Given the description of an element on the screen output the (x, y) to click on. 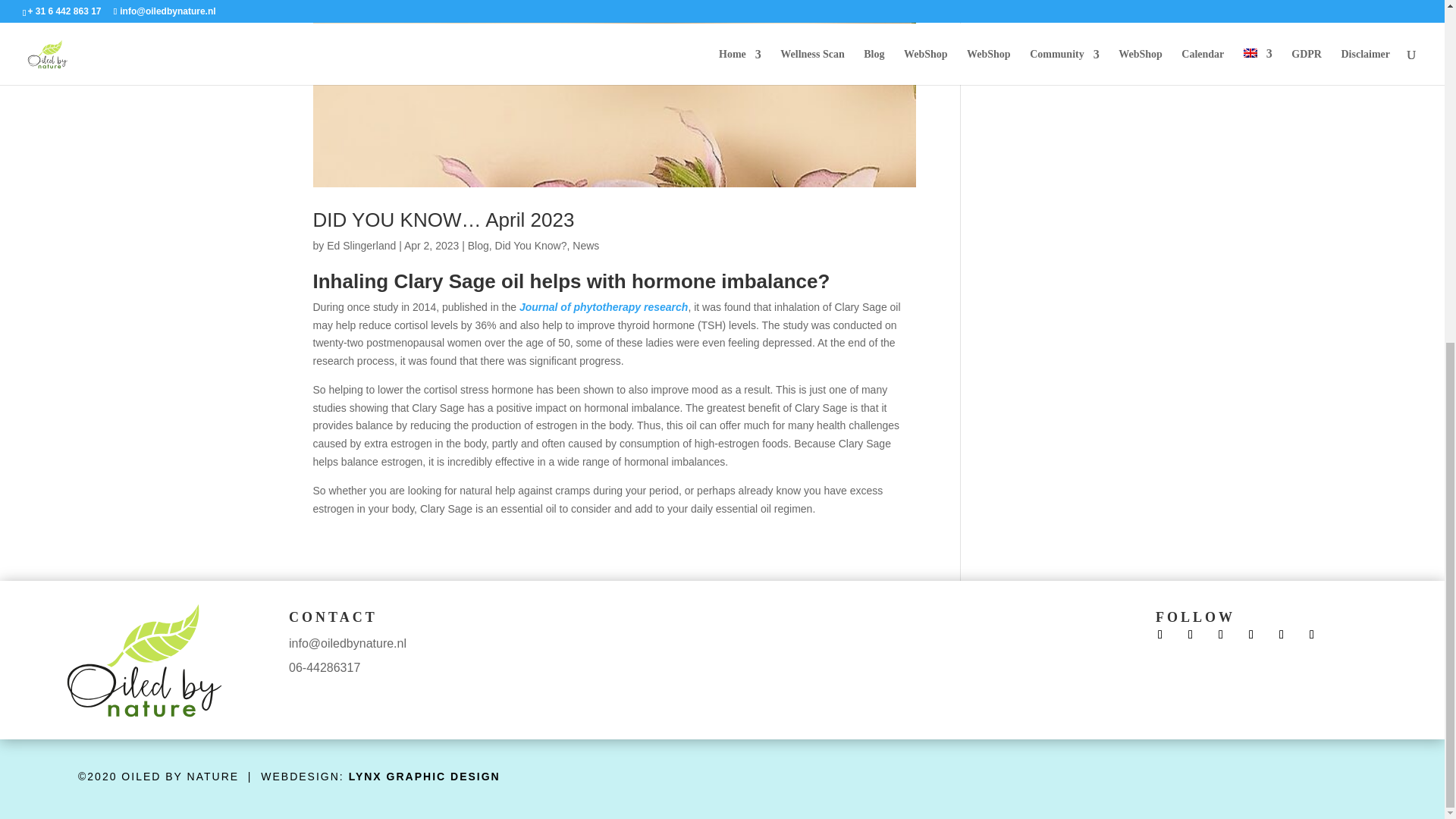
Follow on Instagram (1251, 634)
Follow on Pinterest (1311, 634)
Follow on LinkedIn (1160, 634)
Posts by Ed Slingerland (361, 245)
Blog (478, 245)
News (585, 245)
Did You Know? (531, 245)
Follow on Youtube (1281, 634)
Follow on X (1220, 634)
Ed Slingerland (361, 245)
